Given the description of an element on the screen output the (x, y) to click on. 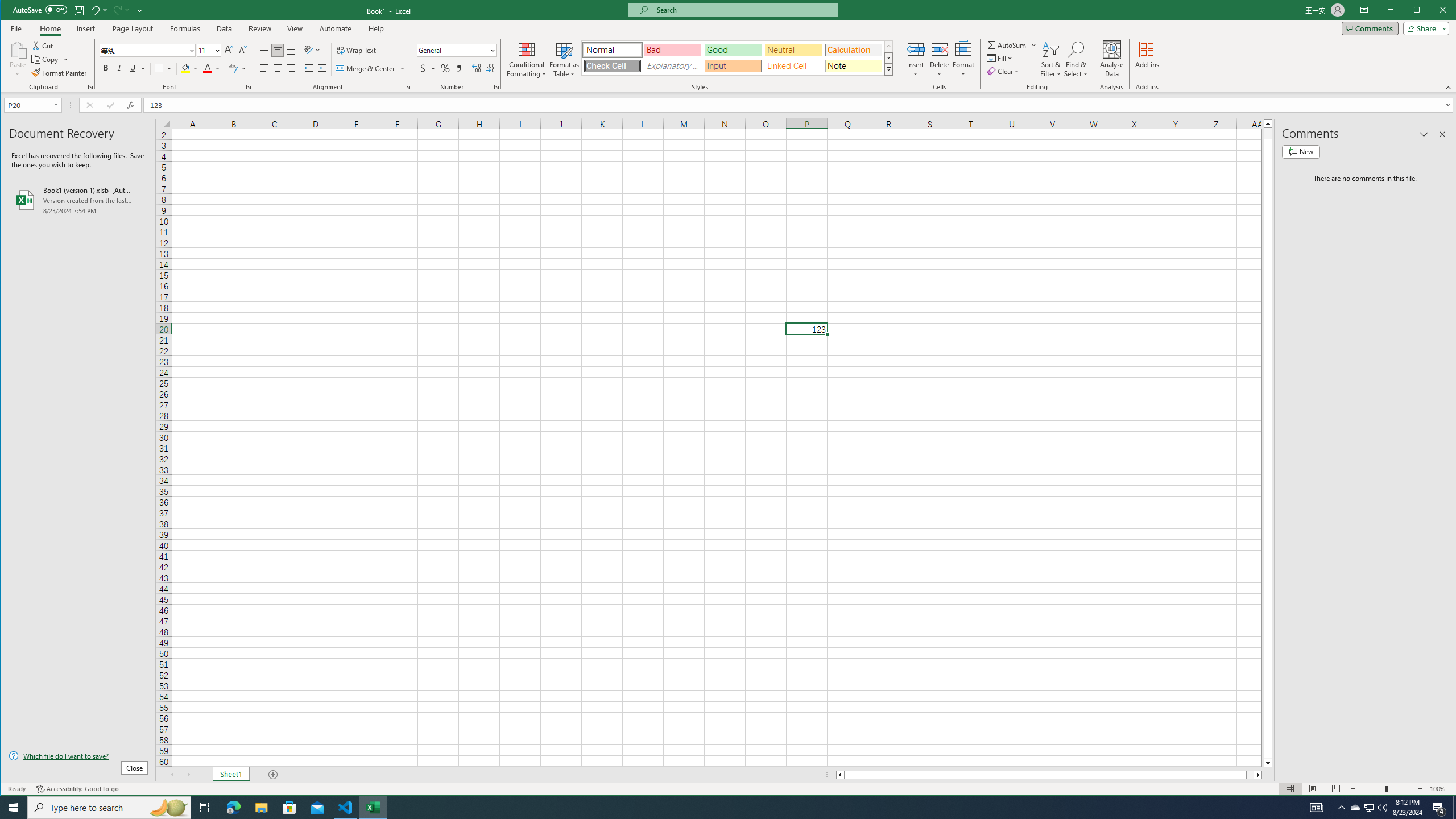
Orientation (312, 49)
Increase Decimal (476, 68)
Align Left (263, 68)
Explanatory Text (672, 65)
Linked Cell (793, 65)
